Given the description of an element on the screen output the (x, y) to click on. 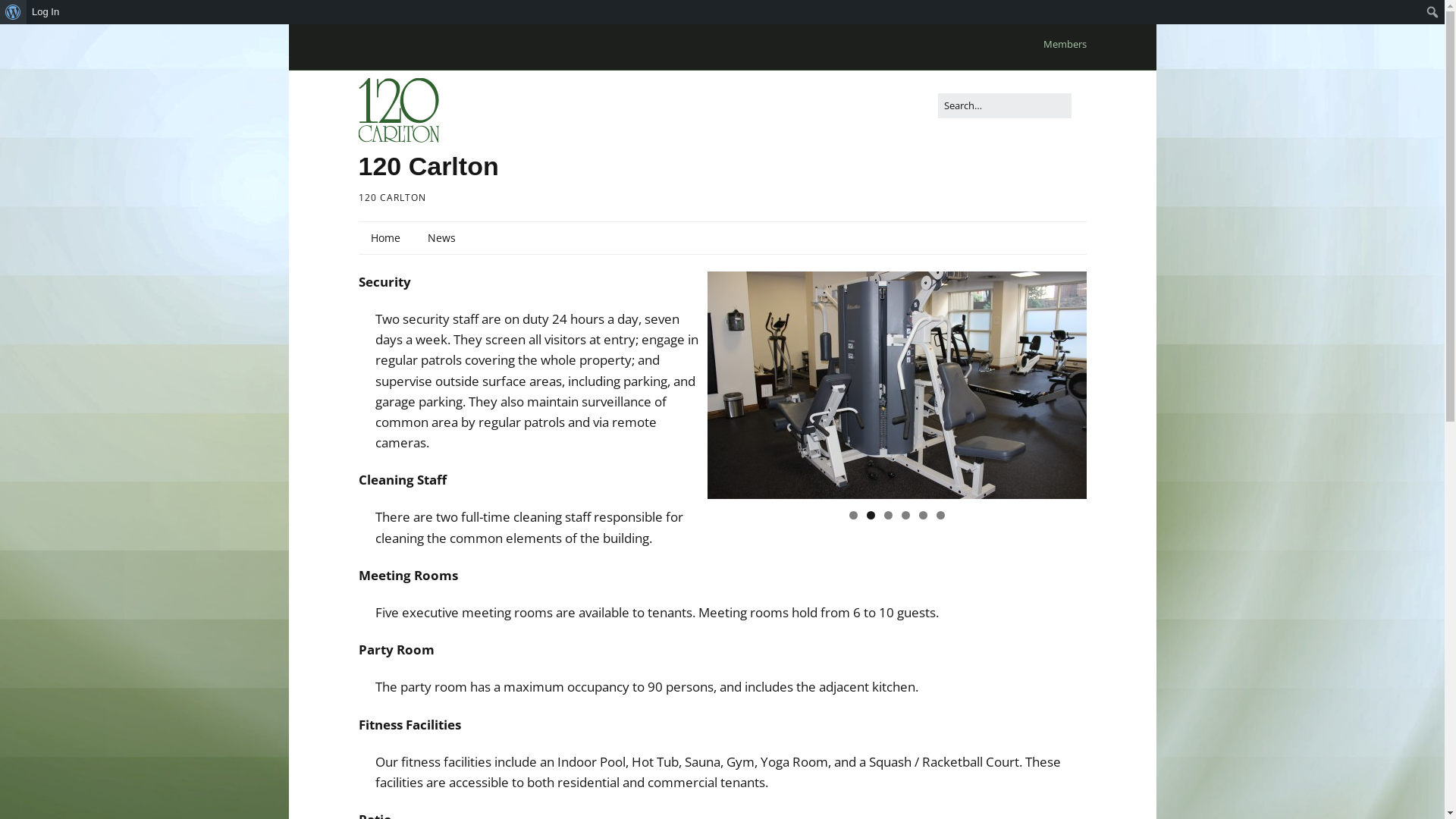
Search Element type: text (25, 15)
6 Element type: text (939, 515)
1 Element type: text (853, 515)
Home Element type: text (384, 238)
Search Element type: text (15, 12)
Press Enter to submit your search Element type: hover (1003, 105)
Skip to content Element type: text (288, 23)
4 Element type: text (904, 515)
2 Element type: text (870, 515)
3 Element type: text (888, 515)
Members Element type: text (1064, 43)
News Element type: text (441, 238)
Log In Element type: text (45, 12)
120 Carlton Element type: text (427, 165)
5 Element type: text (923, 515)
